Given the description of an element on the screen output the (x, y) to click on. 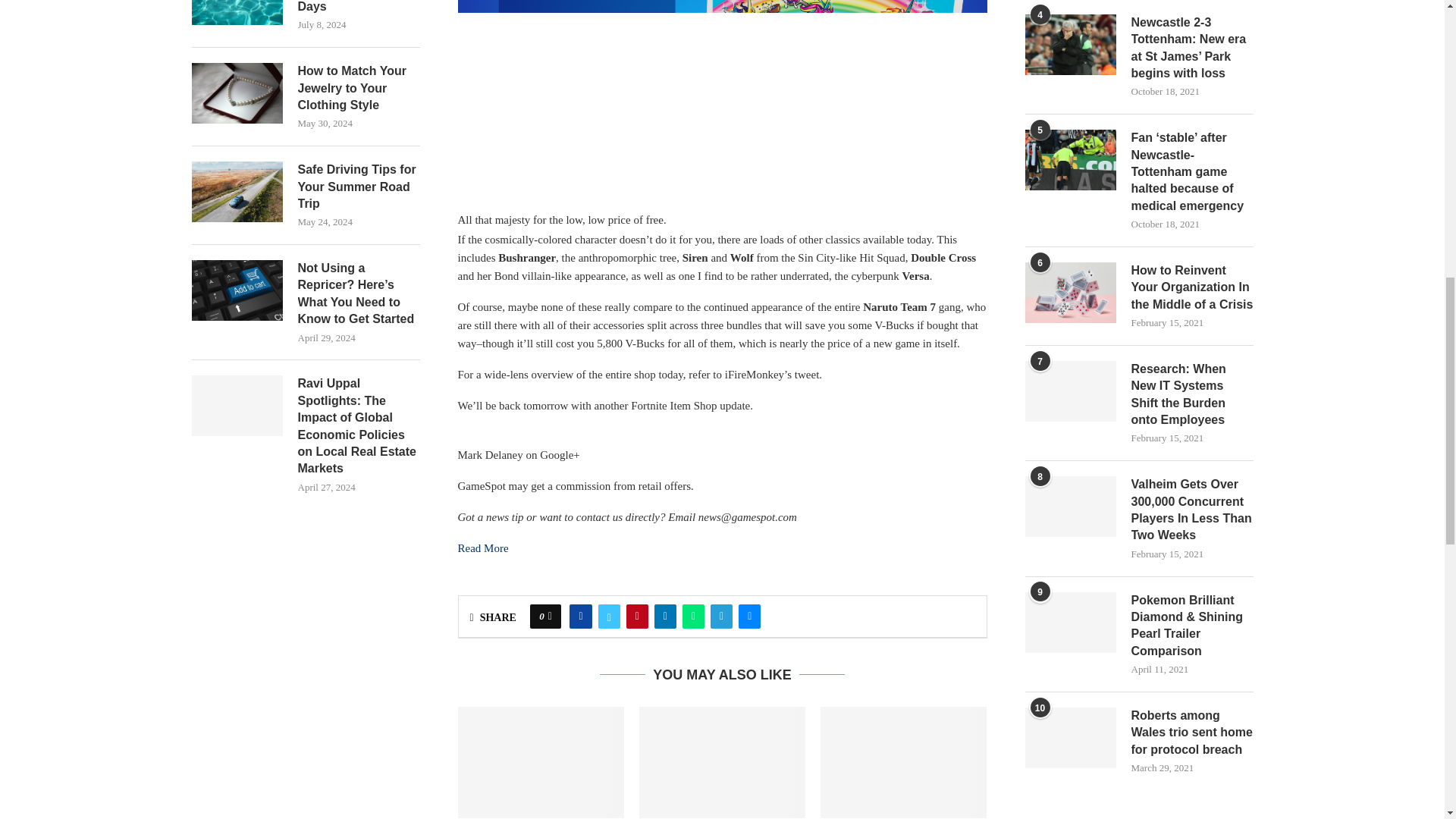
What's In The Fortnite Item Shop Today 4 (722, 104)
Get Ready for a Fun Night: Learn These 5 Popular Card Games (904, 761)
NFL Fantasy Leagues 101: The Ultimate Guide For Beginners (722, 761)
